Given the description of an element on the screen output the (x, y) to click on. 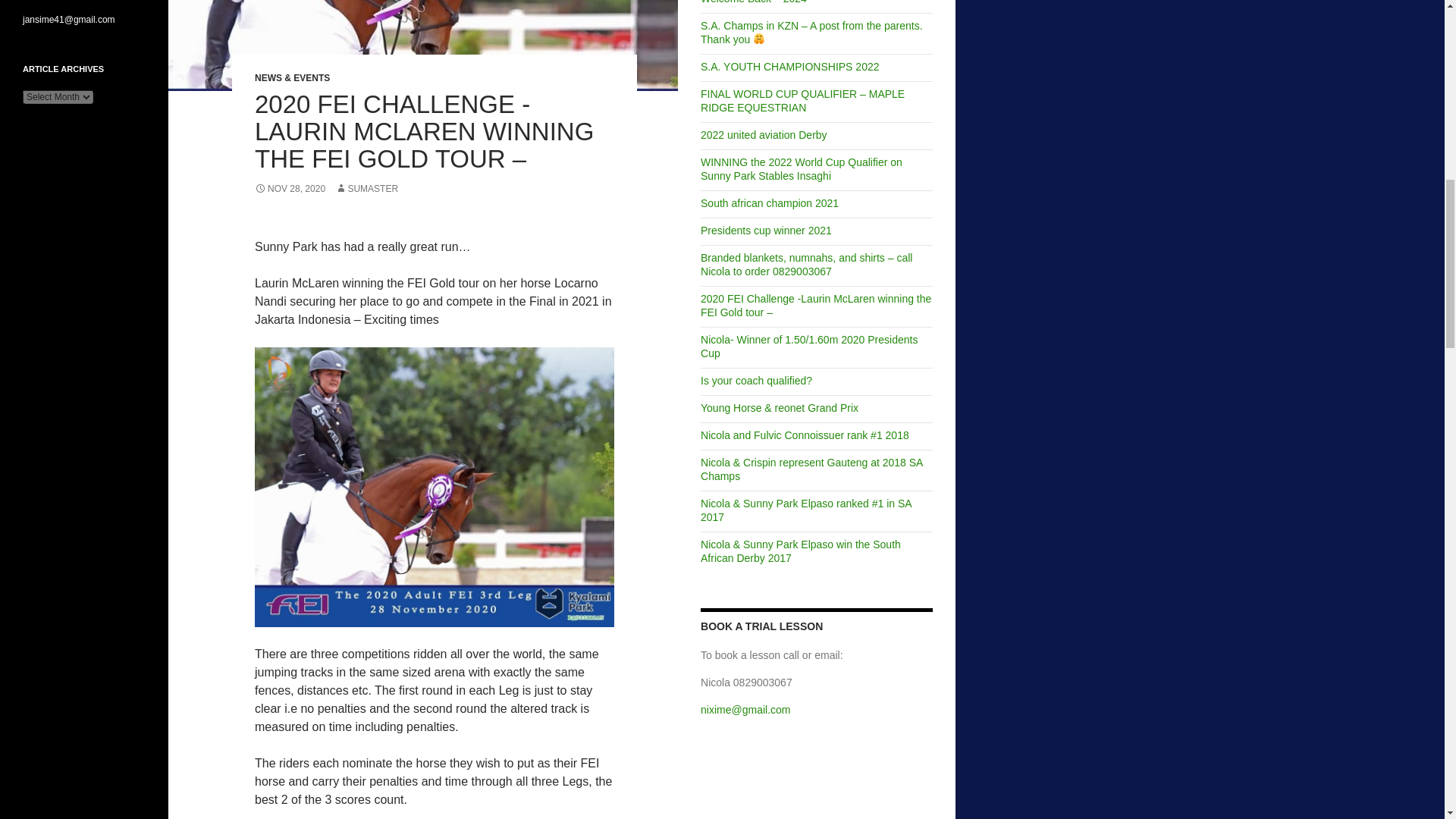
NOV 28, 2020 (289, 188)
2022 united aviation Derby (763, 134)
S.A. YOUTH CHAMPIONSHIPS 2022 (789, 66)
SUMASTER (365, 188)
